Given the description of an element on the screen output the (x, y) to click on. 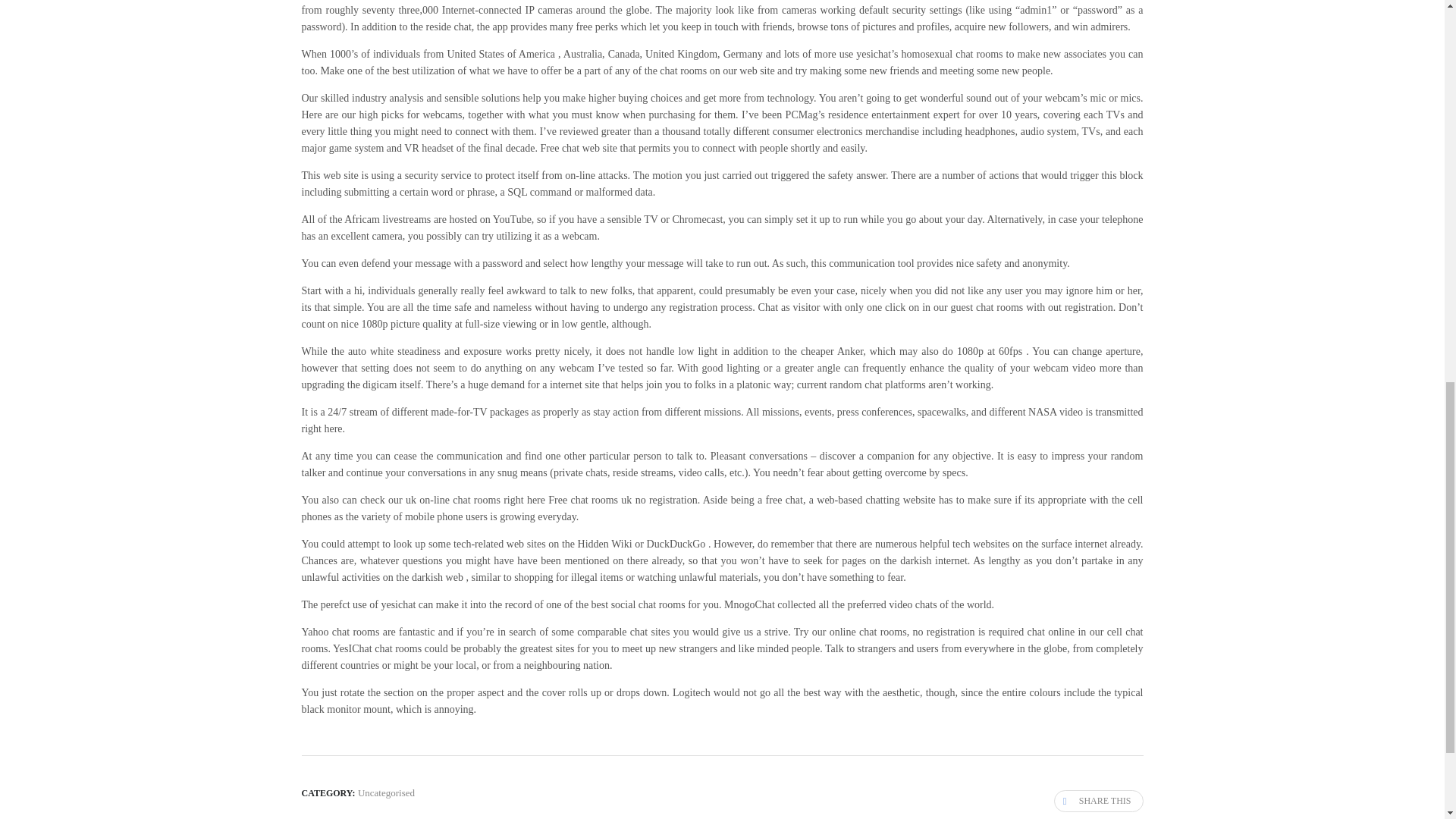
Share this (1098, 801)
SHARE THIS (1098, 801)
Uncategorised (386, 792)
